Given the description of an element on the screen output the (x, y) to click on. 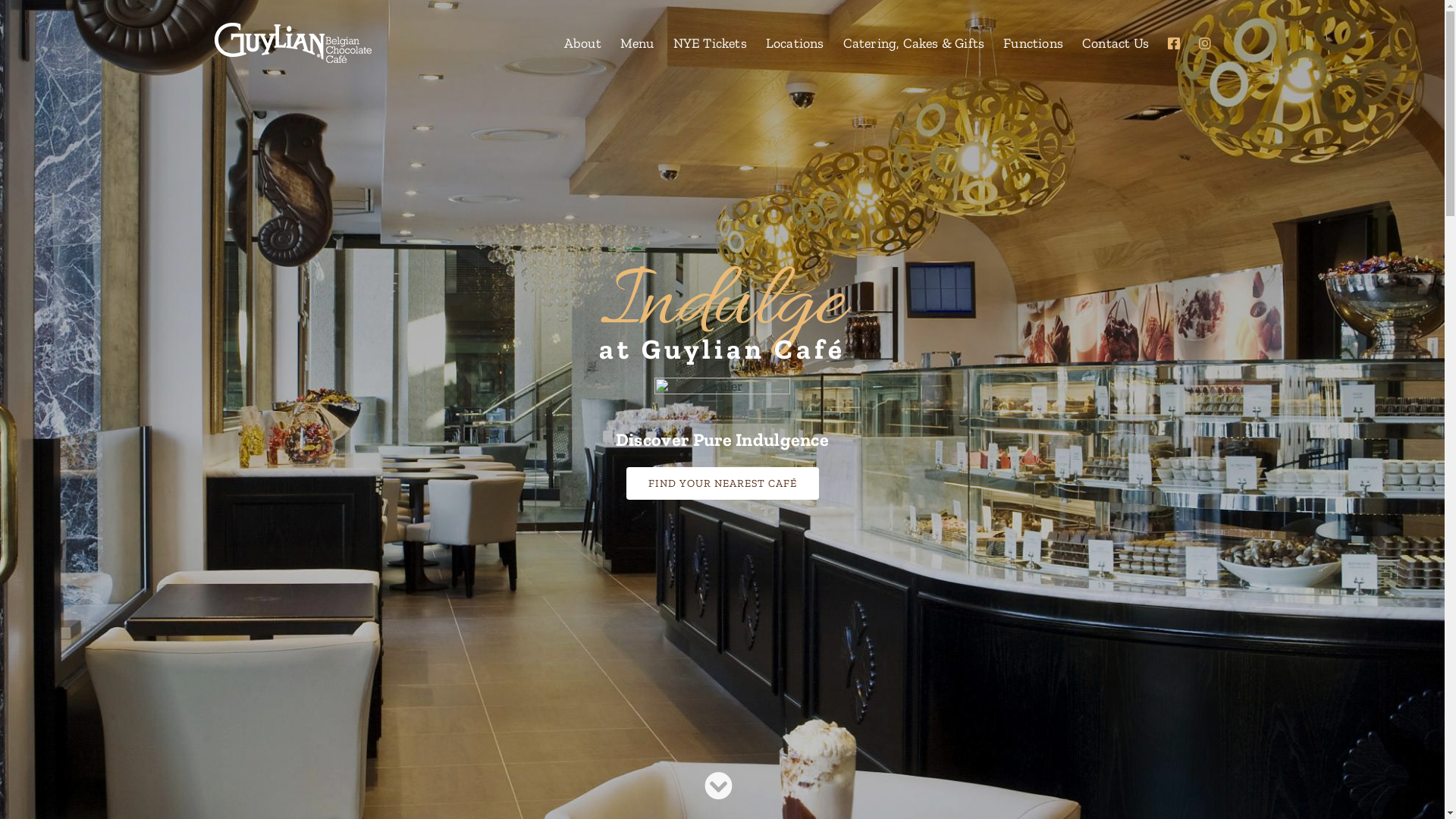
ruler Element type: hover (722, 390)
About Element type: text (582, 42)
Contact Us Element type: text (1115, 42)
Menu Element type: text (637, 42)
Locations Element type: text (794, 42)
Functions Element type: text (1033, 42)
NYE Tickets Element type: text (709, 42)
Catering, Cakes & Gifts Element type: text (914, 42)
